Given the description of an element on the screen output the (x, y) to click on. 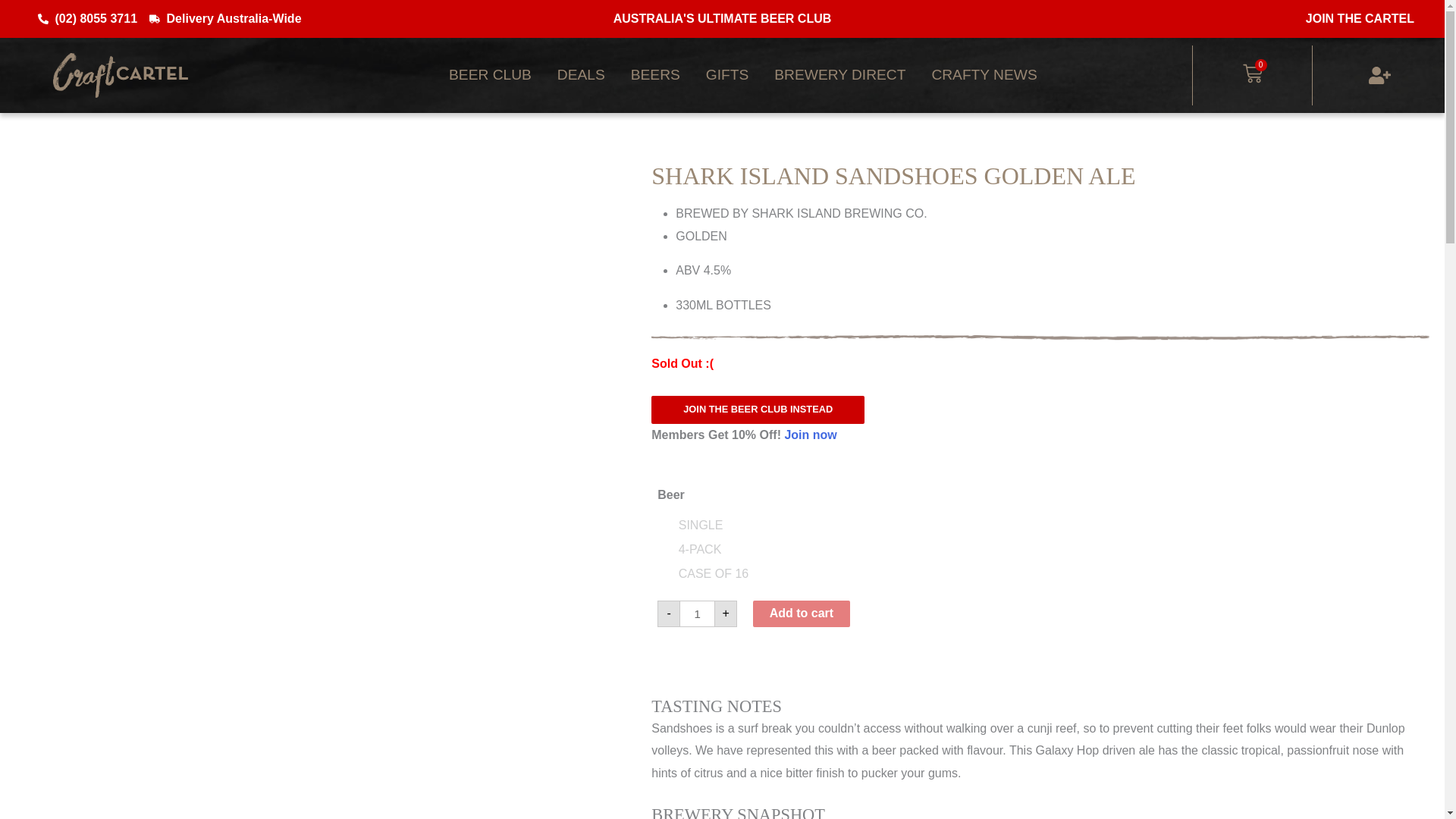
Qty (696, 613)
DEALS (580, 74)
GIFTS (727, 74)
BEER CLUB (489, 74)
JOIN THE CARTEL (1359, 18)
1 (696, 613)
CRAFTY NEWS (983, 74)
BREWERY DIRECT (839, 74)
BEERS (655, 74)
